Given the description of an element on the screen output the (x, y) to click on. 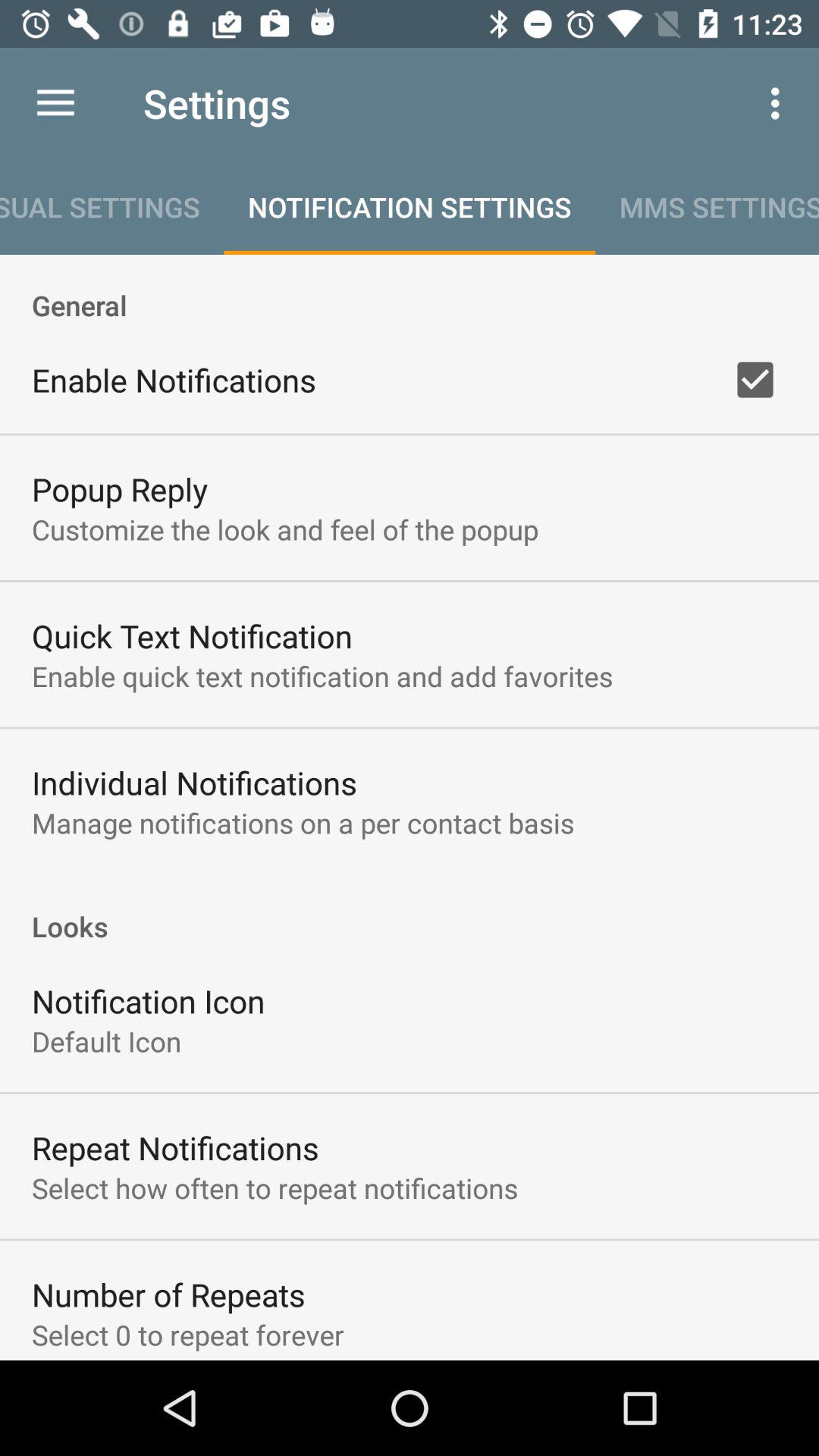
turn on the item above repeat notifications item (106, 1041)
